Given the description of an element on the screen output the (x, y) to click on. 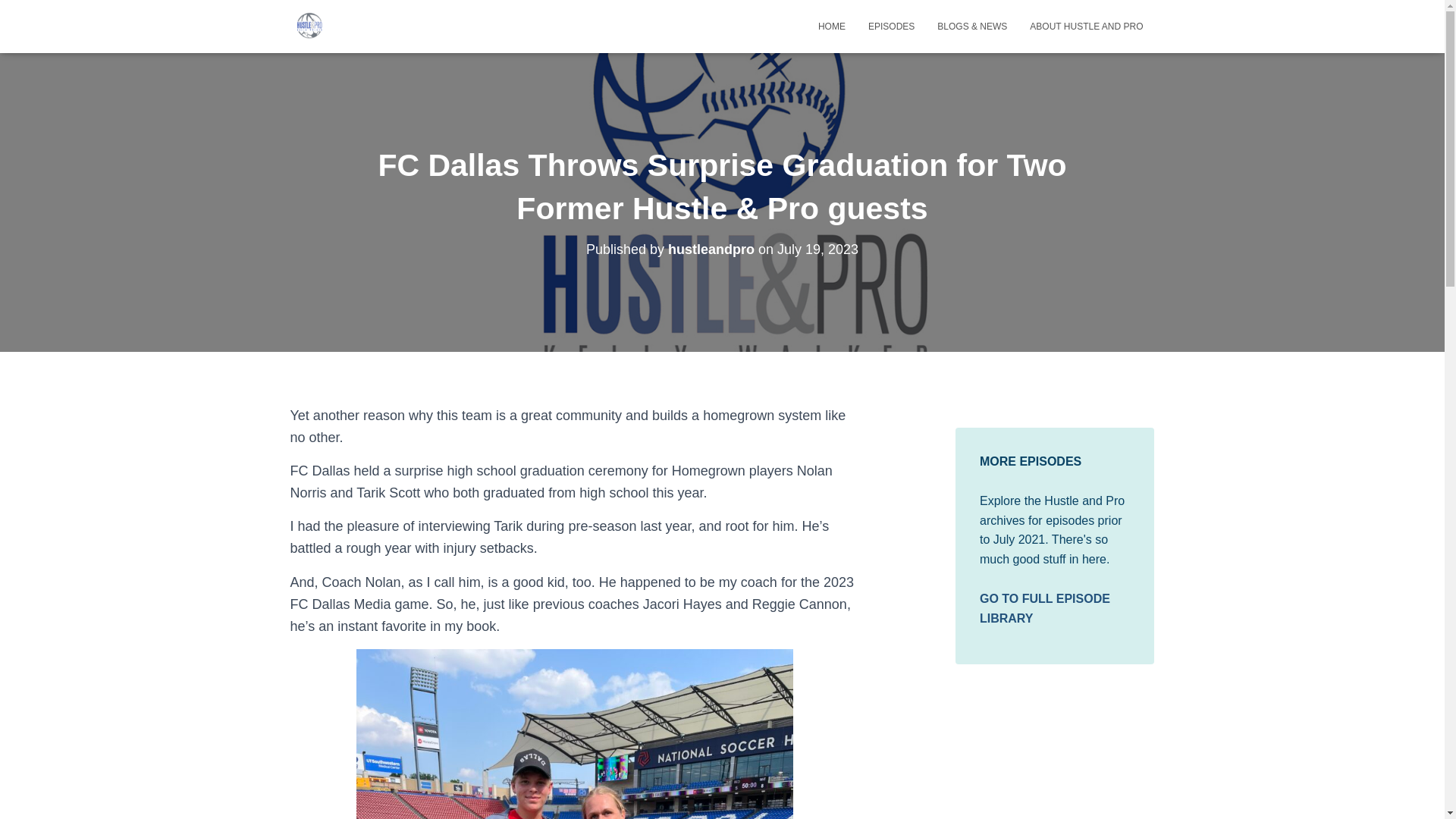
HOME (831, 26)
Episodes (891, 26)
Home (831, 26)
HUSTLE AND PRO (309, 26)
ABOUT HUSTLE AND PRO (1085, 26)
hustleandpro (711, 249)
GO TO FULL EPISODE LIBRARY (1044, 608)
About Hustle and Pro (1085, 26)
EPISODES (891, 26)
